Given the description of an element on the screen output the (x, y) to click on. 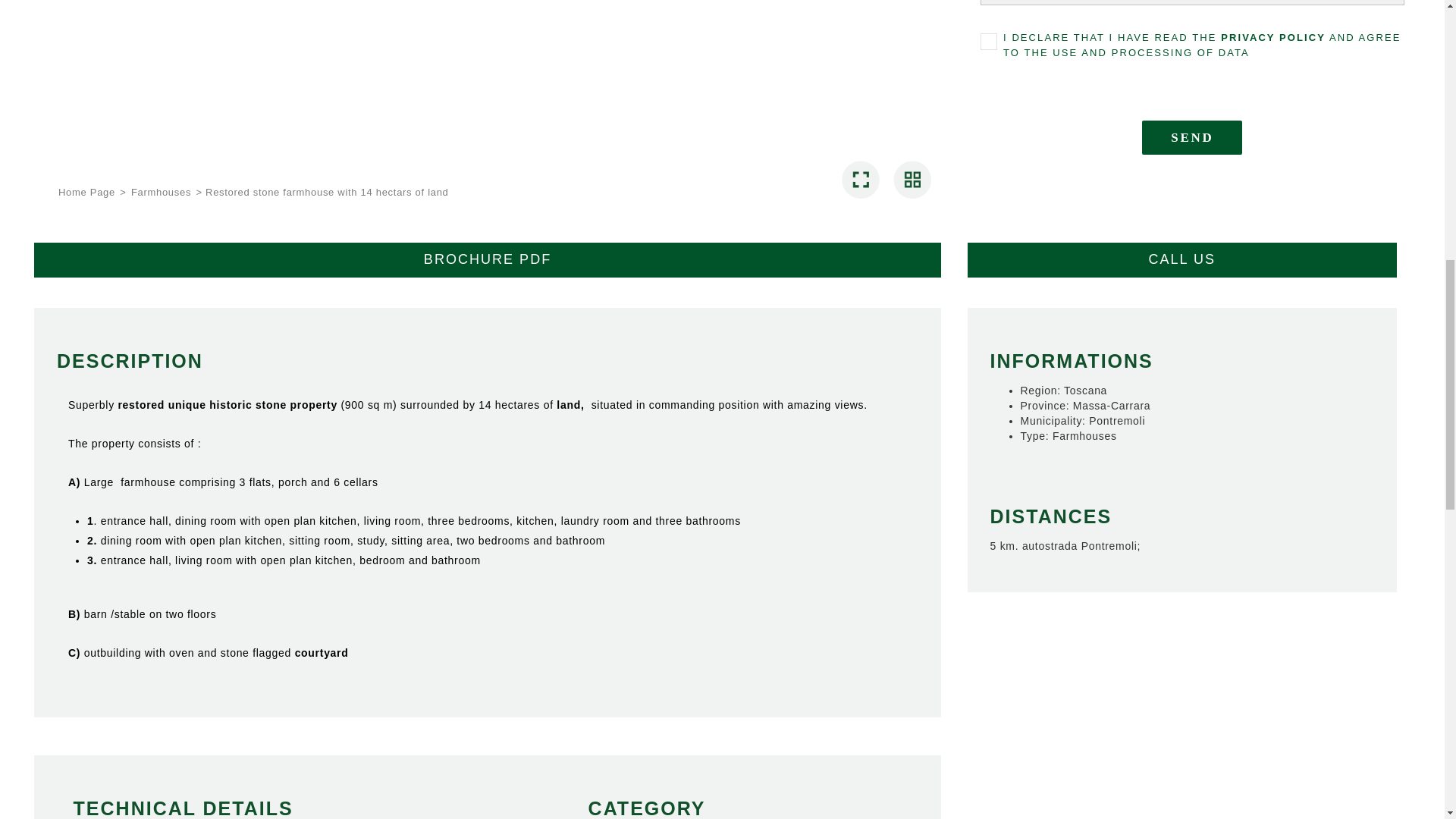
Brochure PDF (487, 258)
SEND (1191, 137)
